Given the description of an element on the screen output the (x, y) to click on. 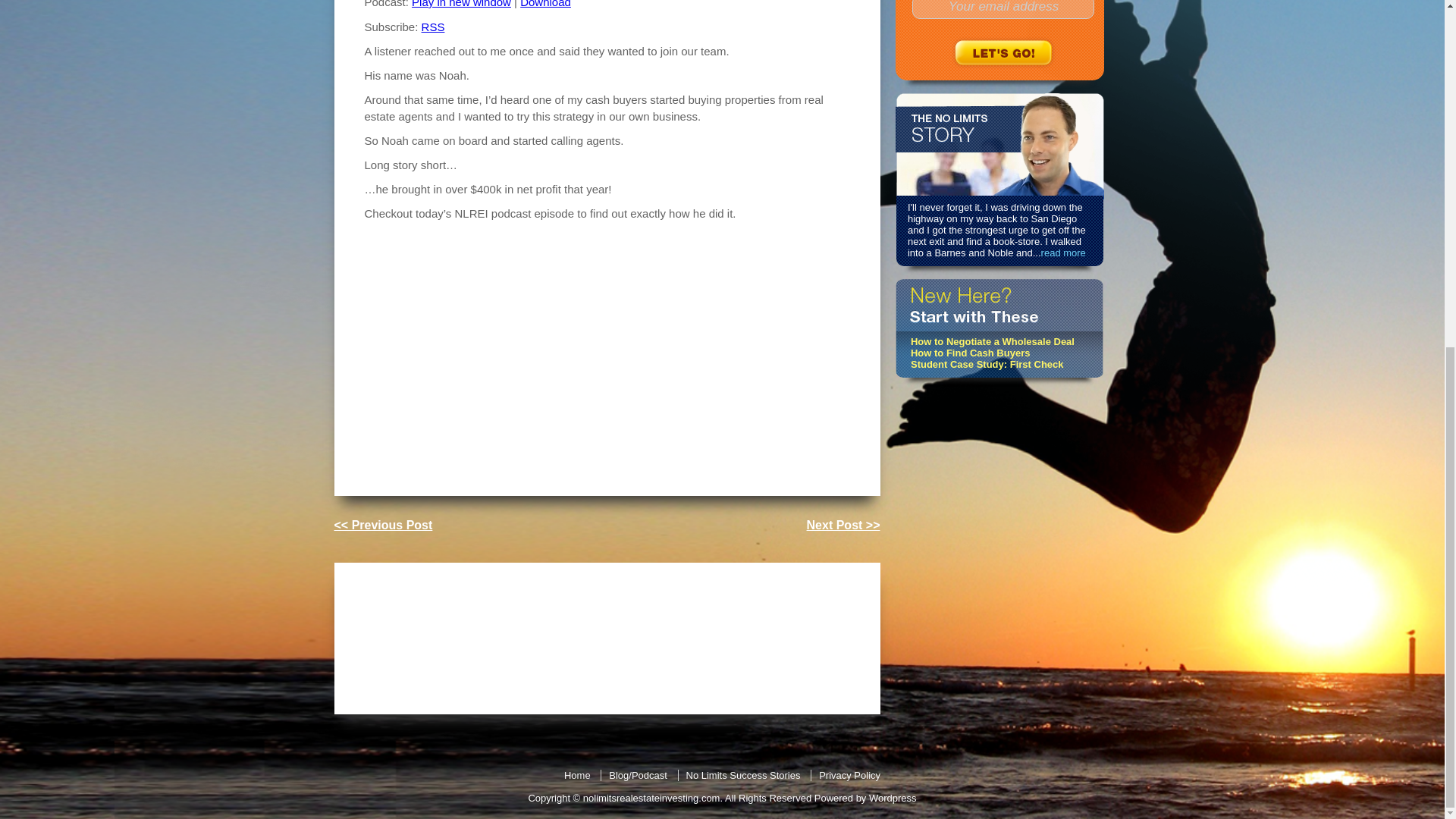
read more (1063, 252)
Download (544, 4)
Student Case Study: First Check (987, 364)
Your email address (1003, 9)
Home (577, 775)
How to Negotiate a Wholesale Deal (992, 341)
YouTube video player (576, 349)
How to Find Cash Buyers (970, 352)
Play in new window (461, 4)
Download (544, 4)
RSS (433, 26)
Submit (1003, 52)
Play in new window (461, 4)
Privacy Policy (849, 775)
No Limits Success Stories (742, 775)
